Given the description of an element on the screen output the (x, y) to click on. 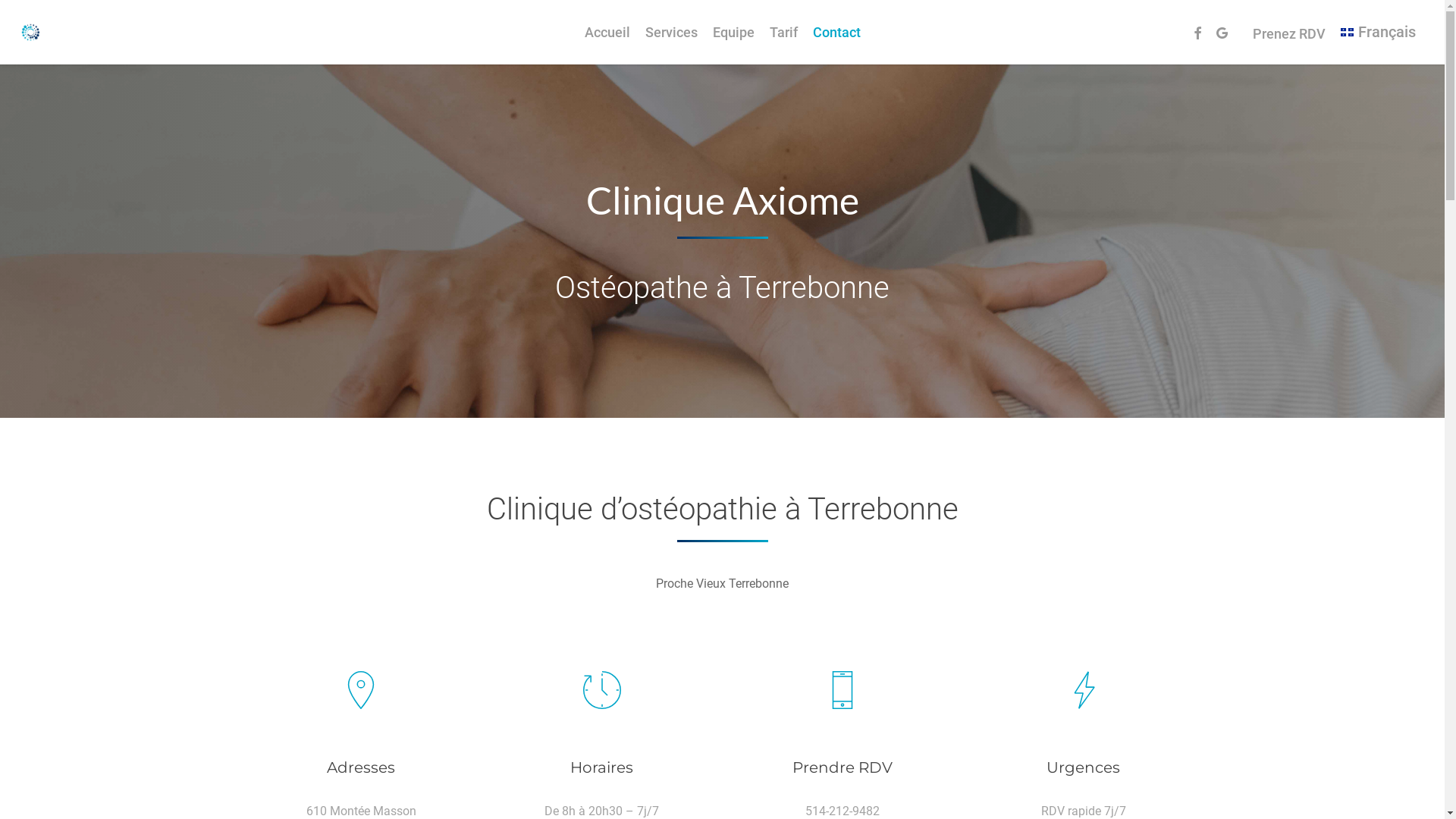
Accueil Element type: text (606, 31)
Tarif Element type: text (782, 31)
Services Element type: text (670, 31)
facebook Element type: text (1197, 33)
google-plus Element type: text (1221, 33)
Contact Element type: text (836, 31)
Equipe Element type: text (733, 31)
Prenez RDV Element type: text (1289, 33)
